Given the description of an element on the screen output the (x, y) to click on. 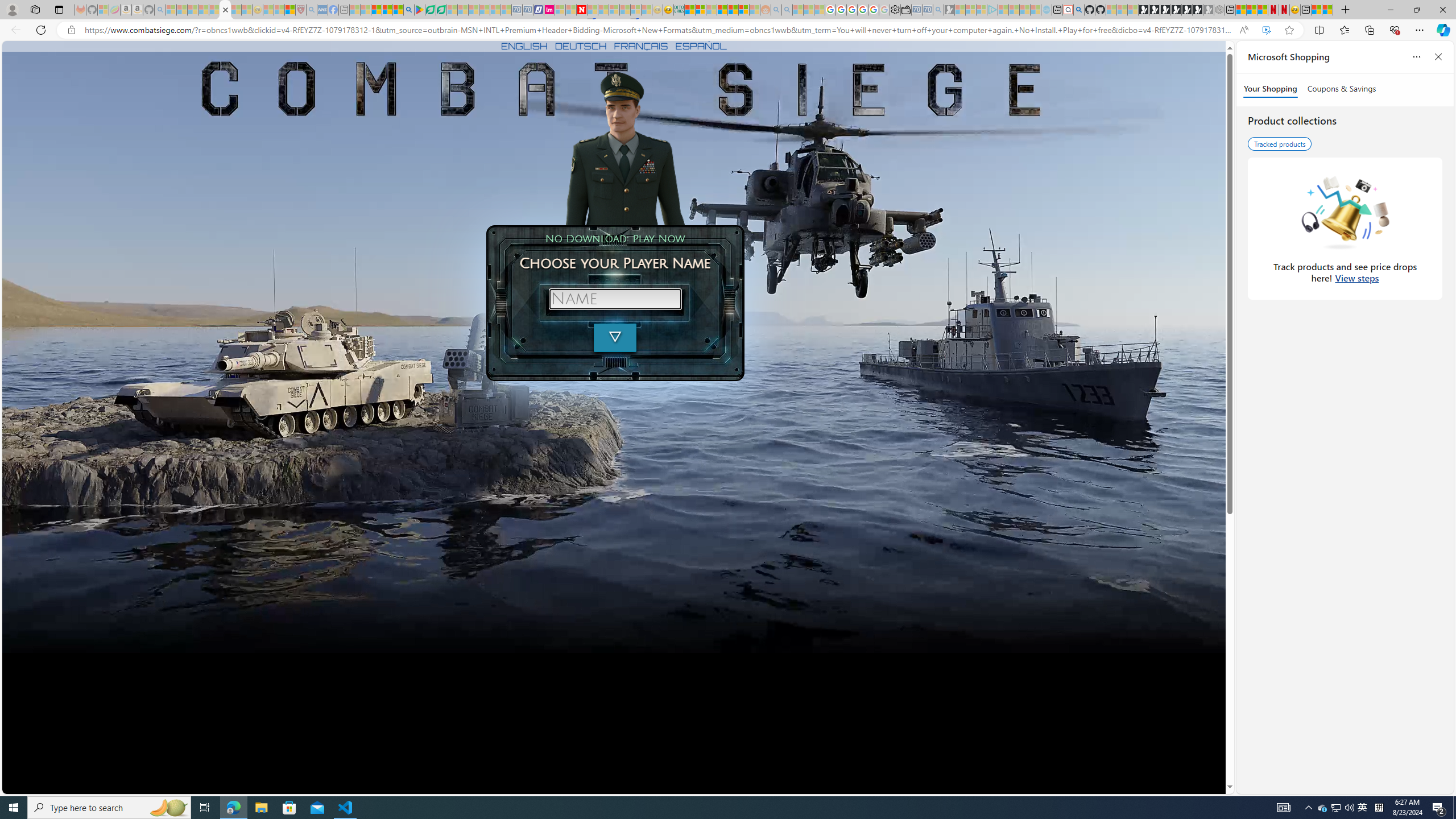
Expert Portfolios (721, 9)
Latest Politics News & Archive | Newsweek.com (582, 9)
Enhance video (1266, 29)
Home | Sky Blue Bikes - Sky Blue Bikes - Sleeping (1046, 9)
Combat Siege (225, 9)
